Given the description of an element on the screen output the (x, y) to click on. 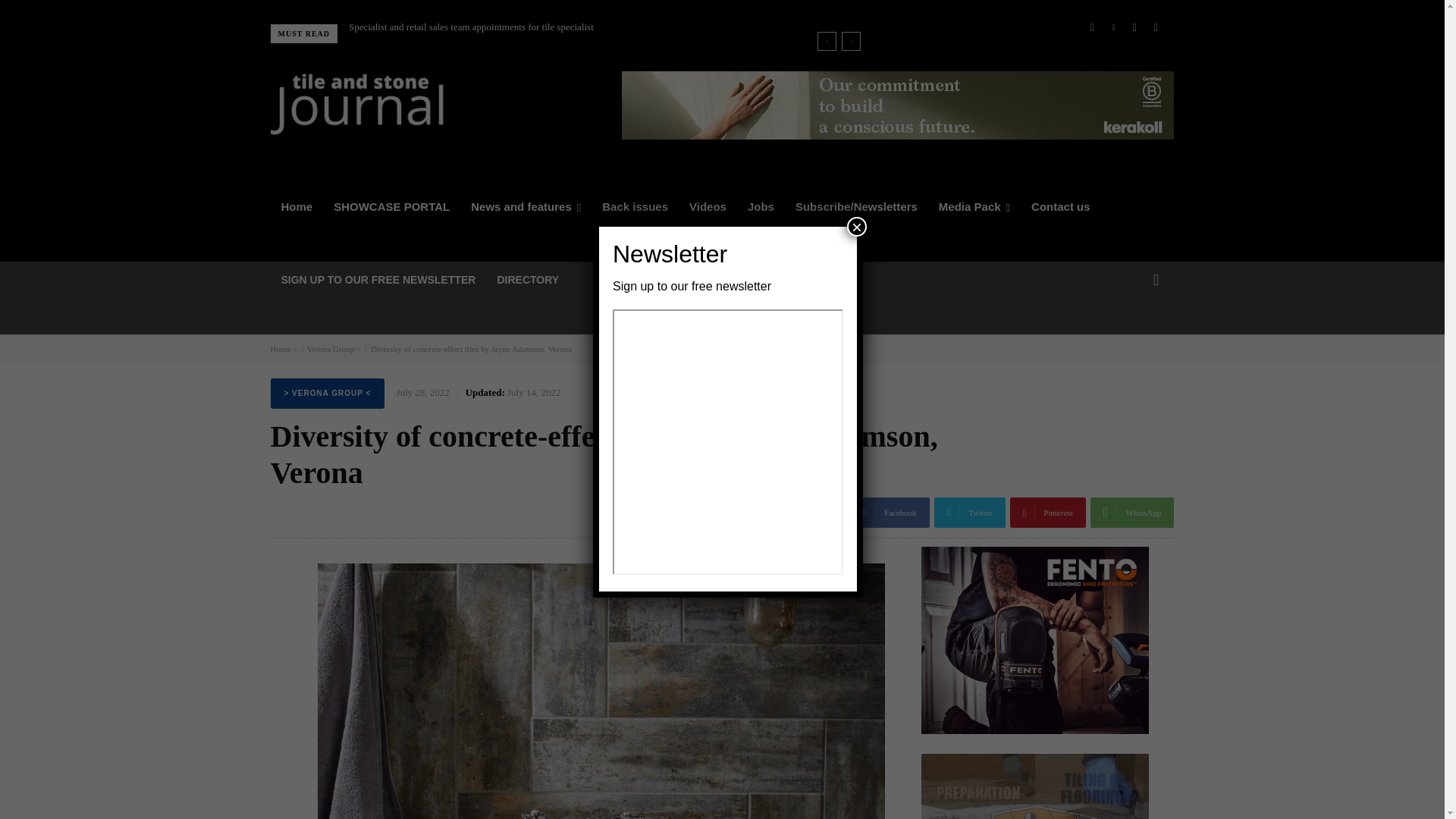
SHOWCASE PORTAL (391, 207)
Facebook (1091, 26)
Youtube (1155, 26)
Tile and Stone Journal (356, 104)
Tile and Stone Journal (414, 104)
Home (296, 207)
News and features (525, 207)
Linkedin (1113, 26)
Twitter (1134, 26)
Mapei UltraCare treatments receive EPD certification (439, 26)
